Given the description of an element on the screen output the (x, y) to click on. 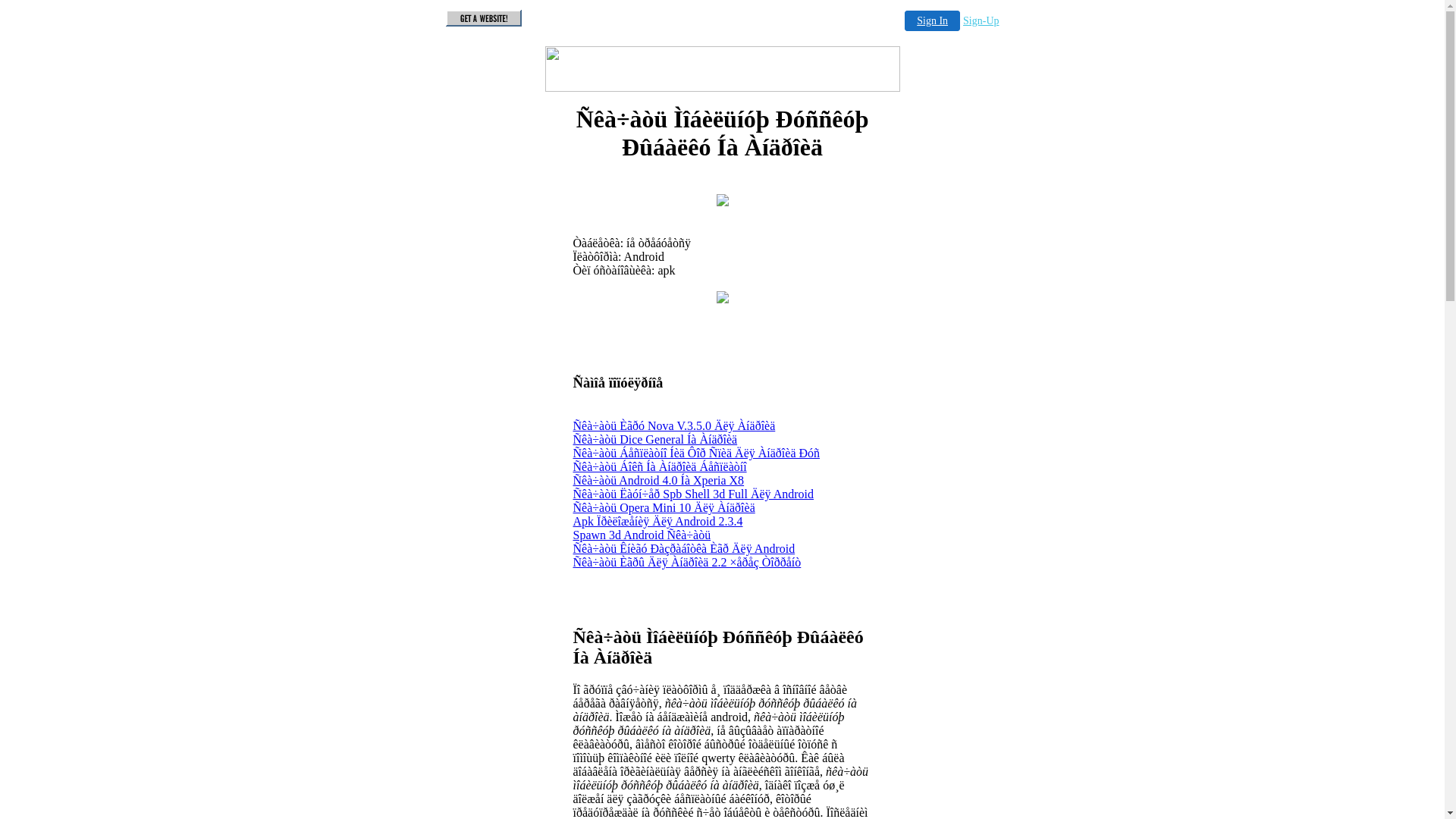
Sign-Up Element type: text (980, 20)
Sign In Element type: text (932, 20)
